Given the description of an element on the screen output the (x, y) to click on. 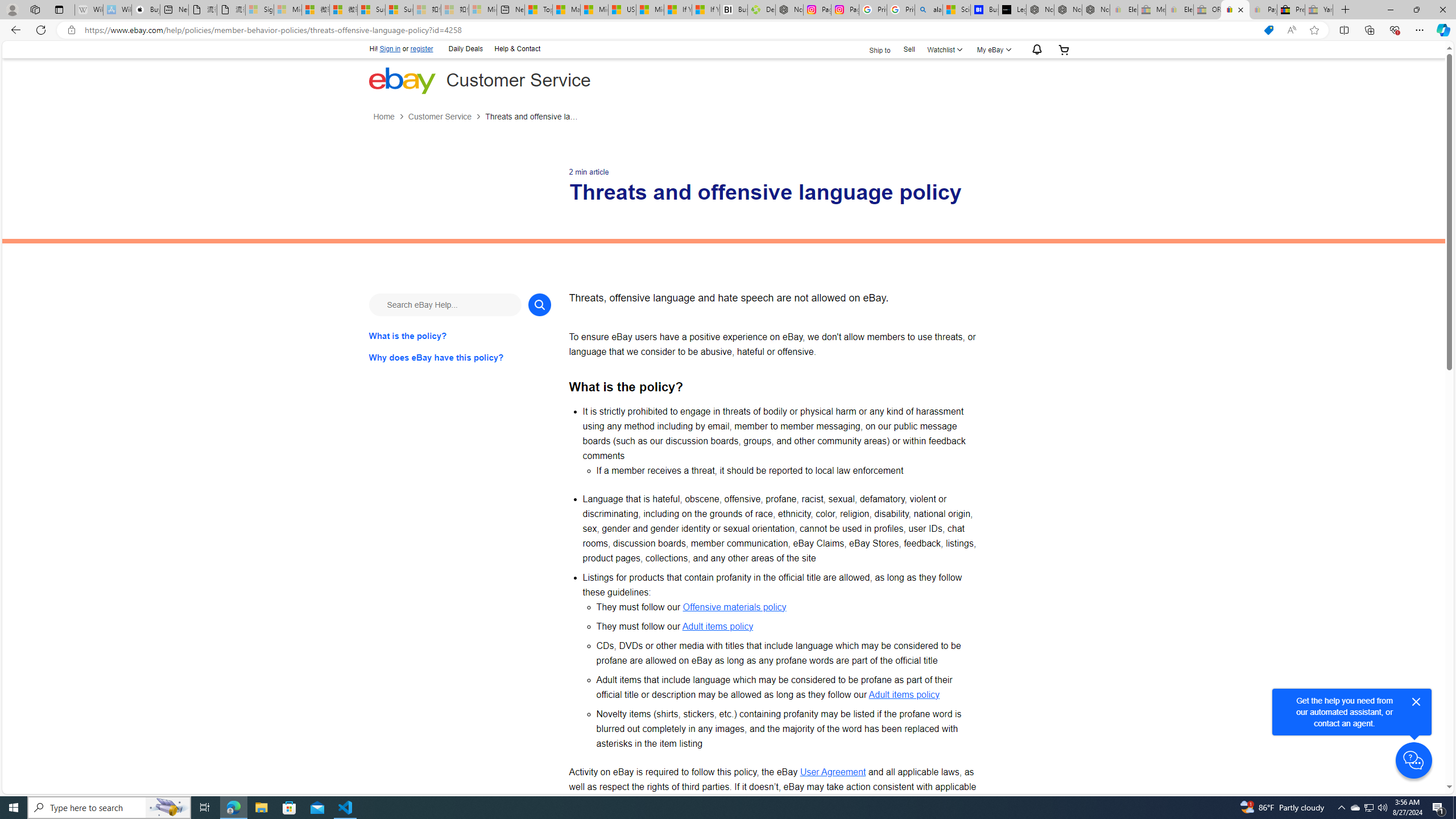
Customer Service (439, 117)
Adult items policy (903, 694)
Watchlist (943, 49)
My eBay (992, 49)
